Given the description of an element on the screen output the (x, y) to click on. 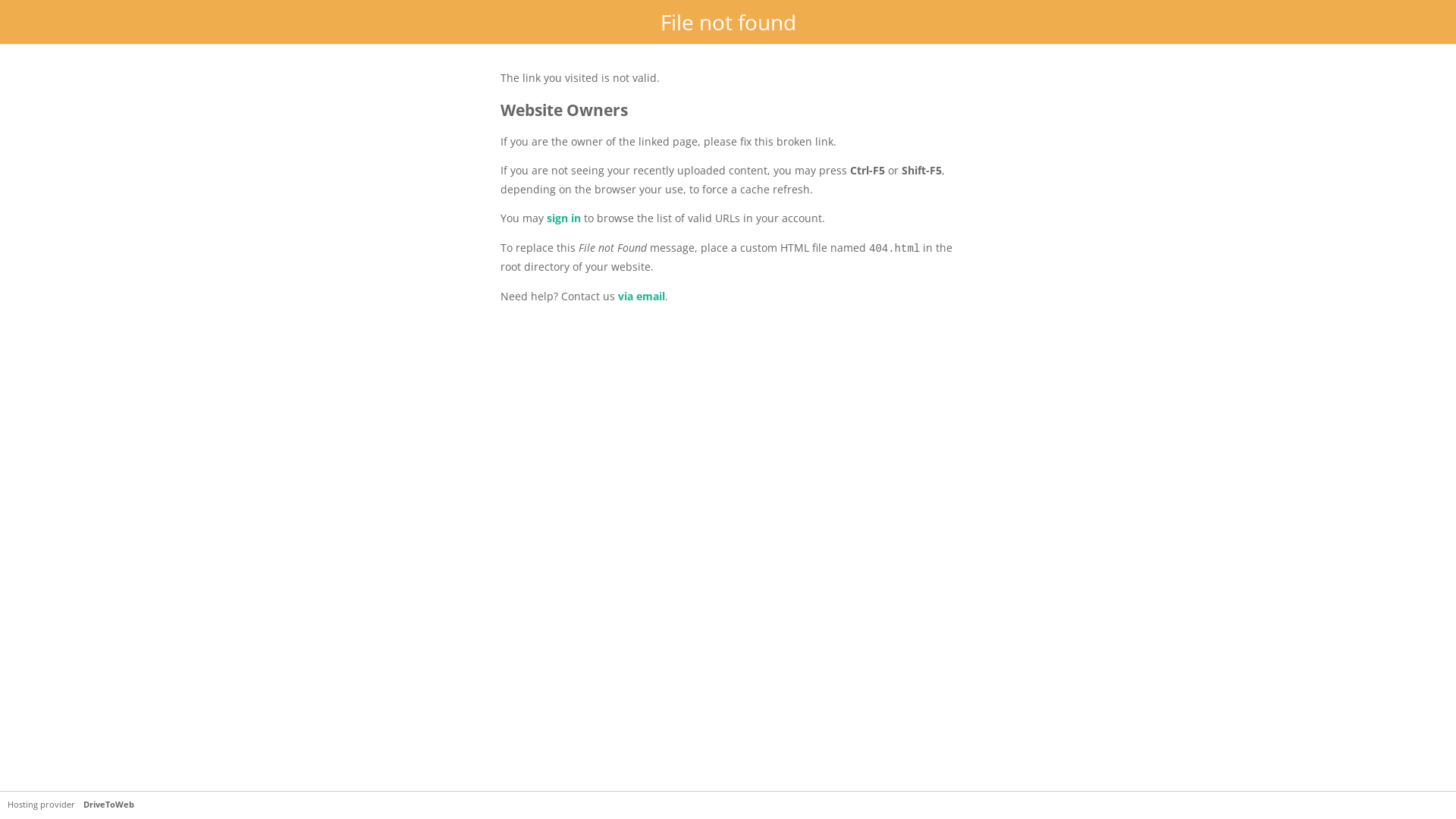
via email Element type: text (641, 295)
DriveToWeb Element type: text (108, 804)
sign in Element type: text (563, 217)
